Given the description of an element on the screen output the (x, y) to click on. 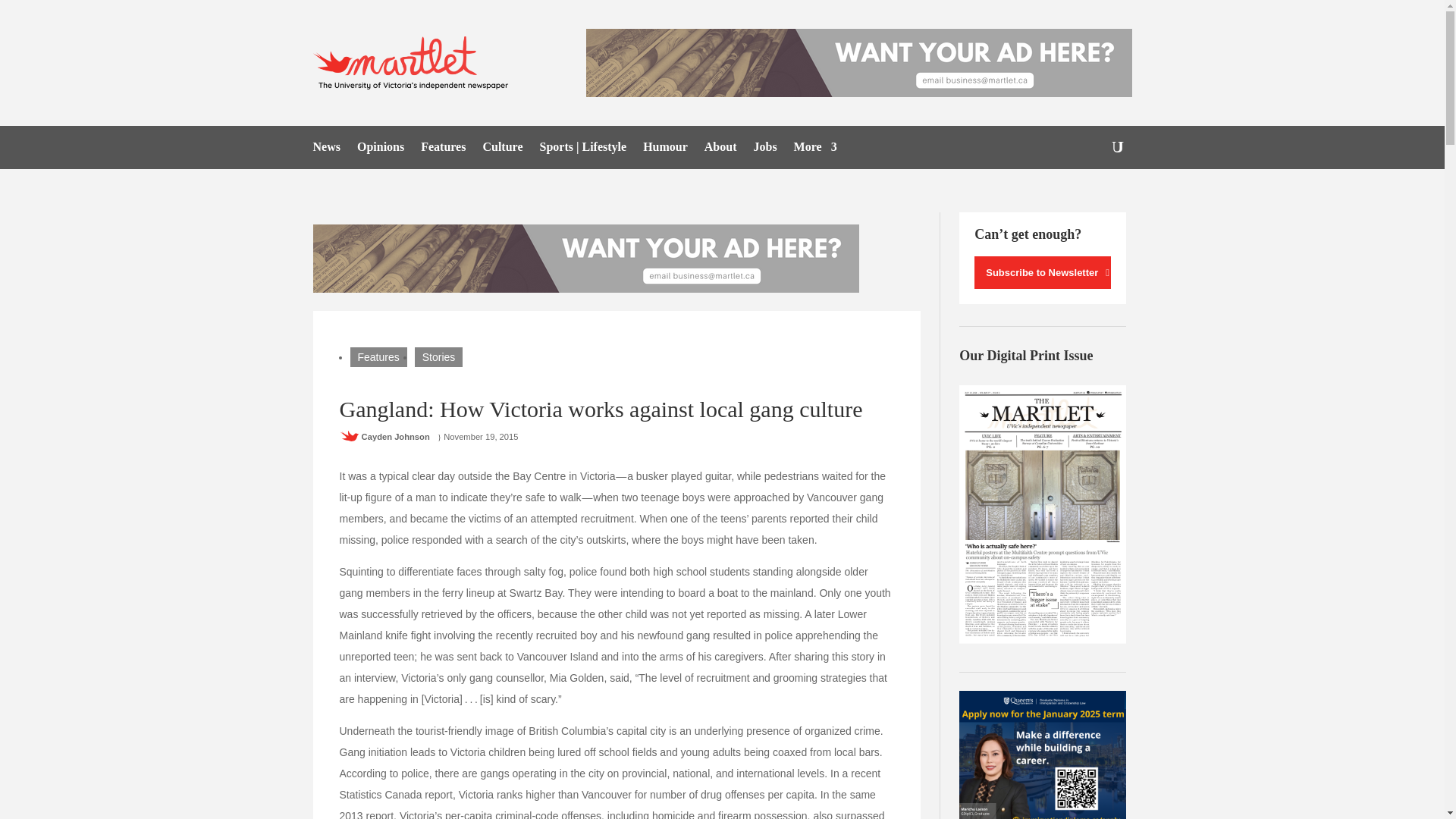
Jobs (764, 150)
Features (378, 356)
Opinions (380, 150)
Subscribe to Newsletter (1042, 272)
martlet-logo-2022 (414, 63)
Features (442, 150)
News (326, 150)
Culture (501, 150)
Stories (438, 356)
About (720, 150)
Humour (665, 150)
More (815, 150)
